Given the description of an element on the screen output the (x, y) to click on. 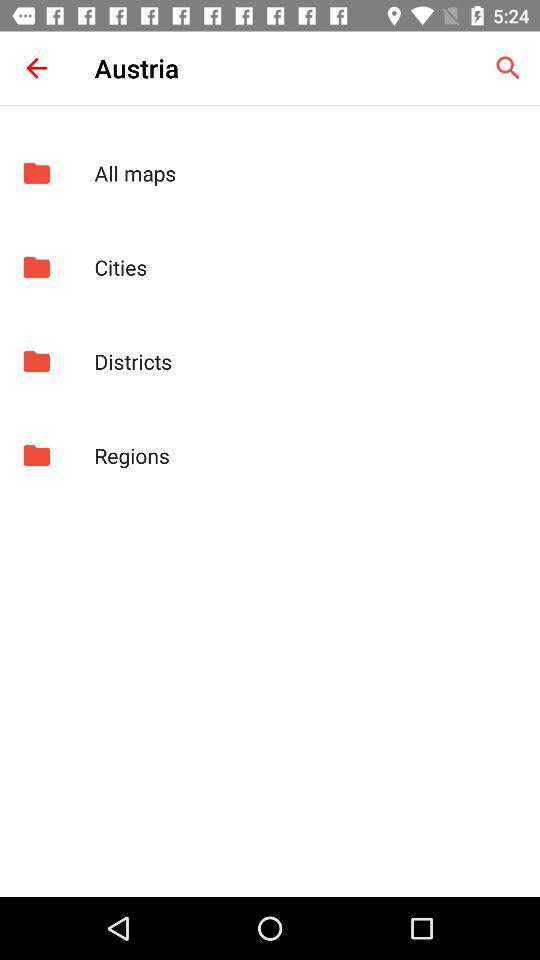
scroll to districts app (306, 361)
